Given the description of an element on the screen output the (x, y) to click on. 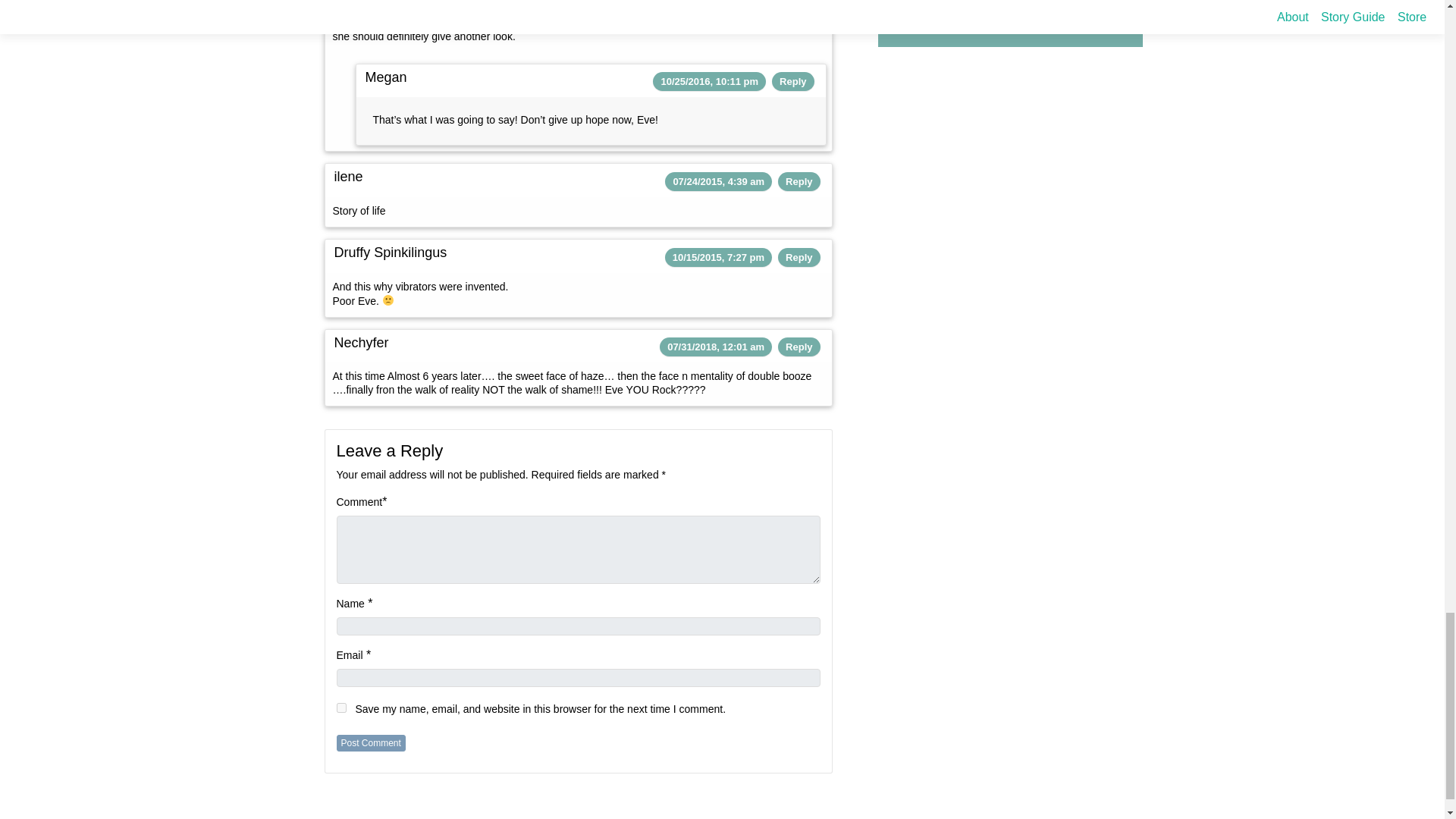
Reply (792, 81)
Reply (799, 346)
Reply (799, 256)
Post Comment (371, 742)
Post Comment (371, 742)
yes (341, 707)
Reply (799, 181)
